Given the description of an element on the screen output the (x, y) to click on. 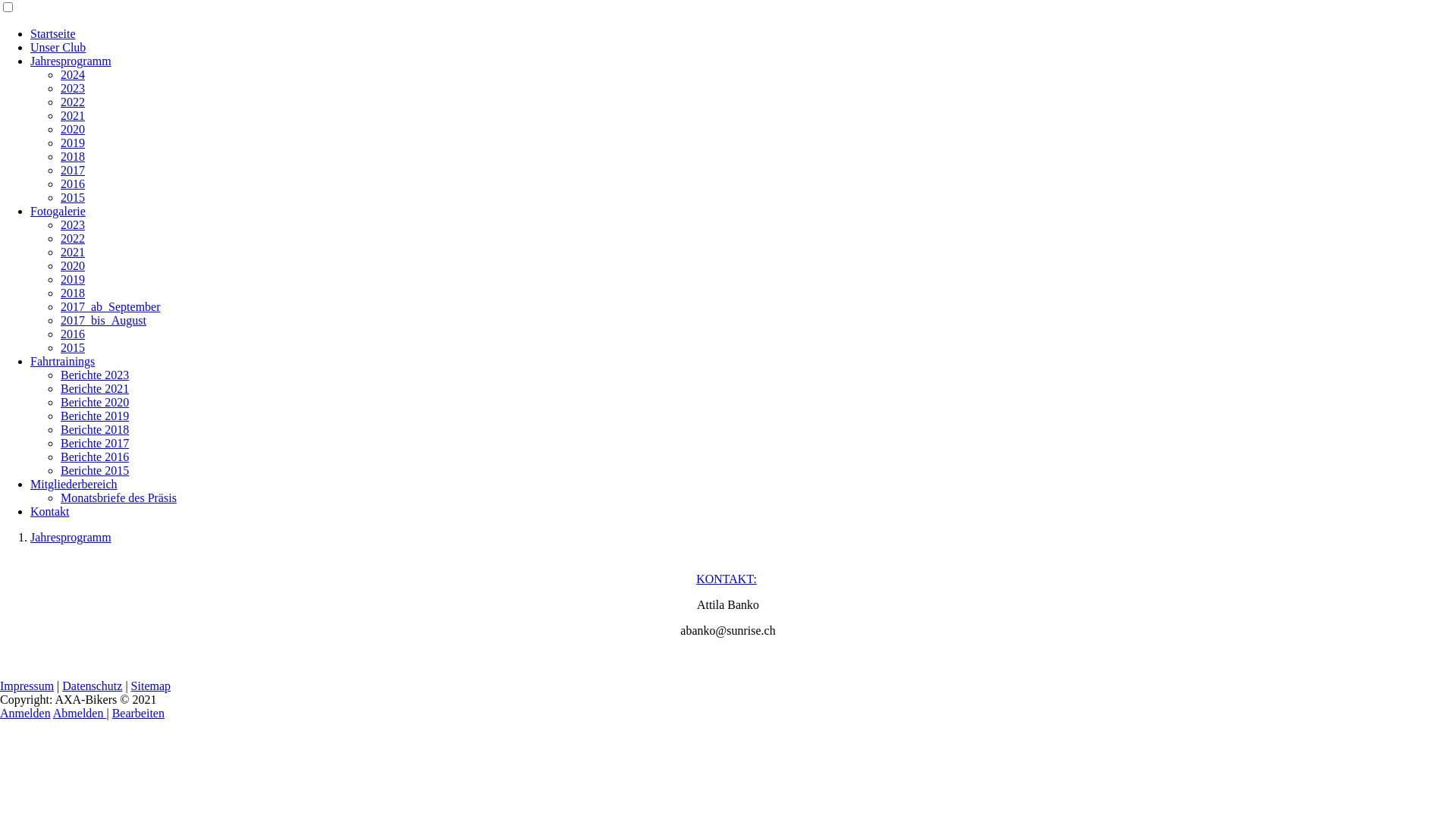
Berichte 2023 Element type: text (94, 374)
Unser Club Element type: text (57, 46)
Berichte 2018 Element type: text (94, 429)
2019 Element type: text (72, 142)
Bearbeiten Element type: text (138, 712)
Datenschutz Element type: text (92, 685)
2021 Element type: text (72, 115)
Berichte 2019 Element type: text (94, 415)
Berichte 2015 Element type: text (94, 470)
2020 Element type: text (72, 265)
2018 Element type: text (72, 156)
2020 Element type: text (72, 128)
2016 Element type: text (72, 333)
2017_bis_August Element type: text (103, 319)
2017 Element type: text (72, 169)
2015 Element type: text (72, 347)
2016 Element type: text (72, 183)
2022 Element type: text (72, 238)
Abmelden Element type: text (79, 712)
2023 Element type: text (72, 87)
Kontakt Element type: text (49, 511)
Impressum Element type: text (26, 685)
Fahrtrainings Element type: text (62, 360)
Berichte 2020 Element type: text (94, 401)
2017_ab_September Element type: text (110, 306)
2022 Element type: text (72, 101)
Berichte 2016 Element type: text (94, 456)
Berichte 2021 Element type: text (94, 388)
KONTAKT: Element type: text (726, 578)
Berichte 2017 Element type: text (94, 442)
Mitgliederbereich Element type: text (73, 483)
Sitemap Element type: text (150, 685)
2018 Element type: text (72, 292)
2021 Element type: text (72, 251)
Anmelden Element type: text (25, 712)
2023 Element type: text (72, 224)
2019 Element type: text (72, 279)
Fotogalerie Element type: text (57, 210)
Jahresprogramm Element type: text (70, 60)
Startseite Element type: text (52, 33)
Jahresprogramm Element type: text (70, 536)
2015 Element type: text (72, 197)
2024 Element type: text (72, 74)
